Given the description of an element on the screen output the (x, y) to click on. 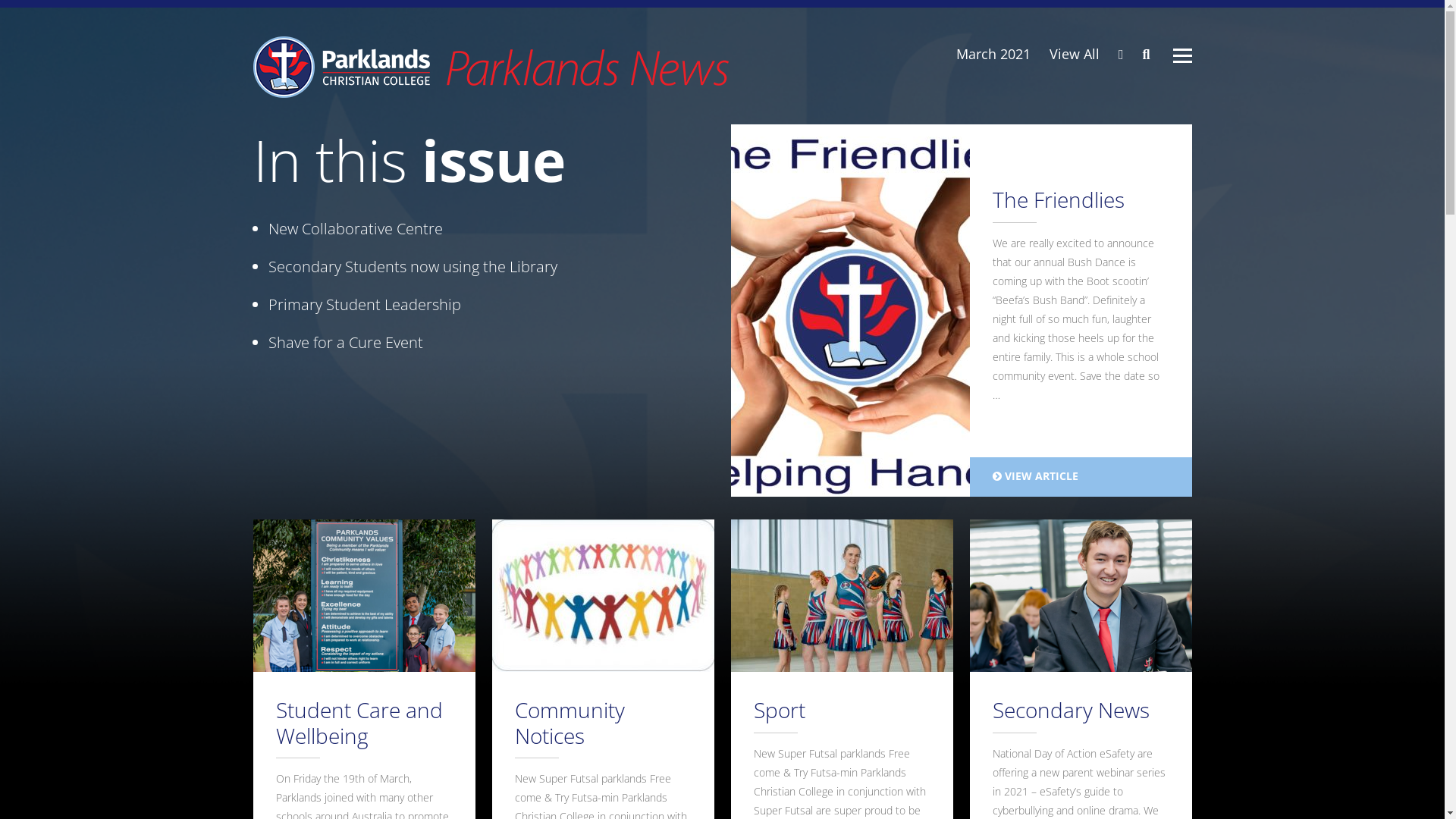
View All Element type: text (1074, 53)
VIEW ARTICLE Element type: text (1080, 476)
Our online newsletter solution Element type: hover (490, 66)
